Given the description of an element on the screen output the (x, y) to click on. 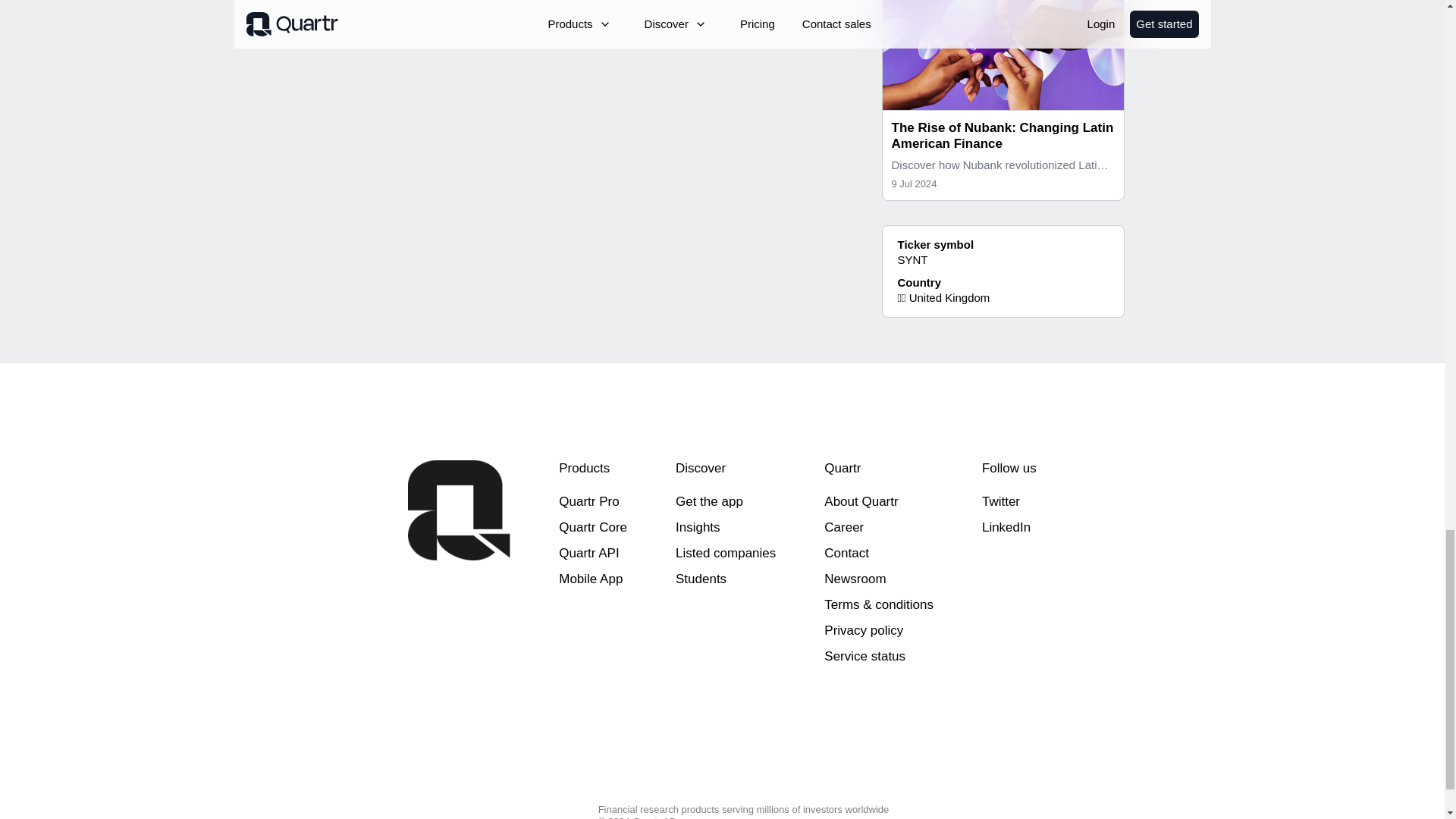
Quartr Pro (588, 501)
Quartr API (588, 553)
Quartr Core (593, 527)
